Given the description of an element on the screen output the (x, y) to click on. 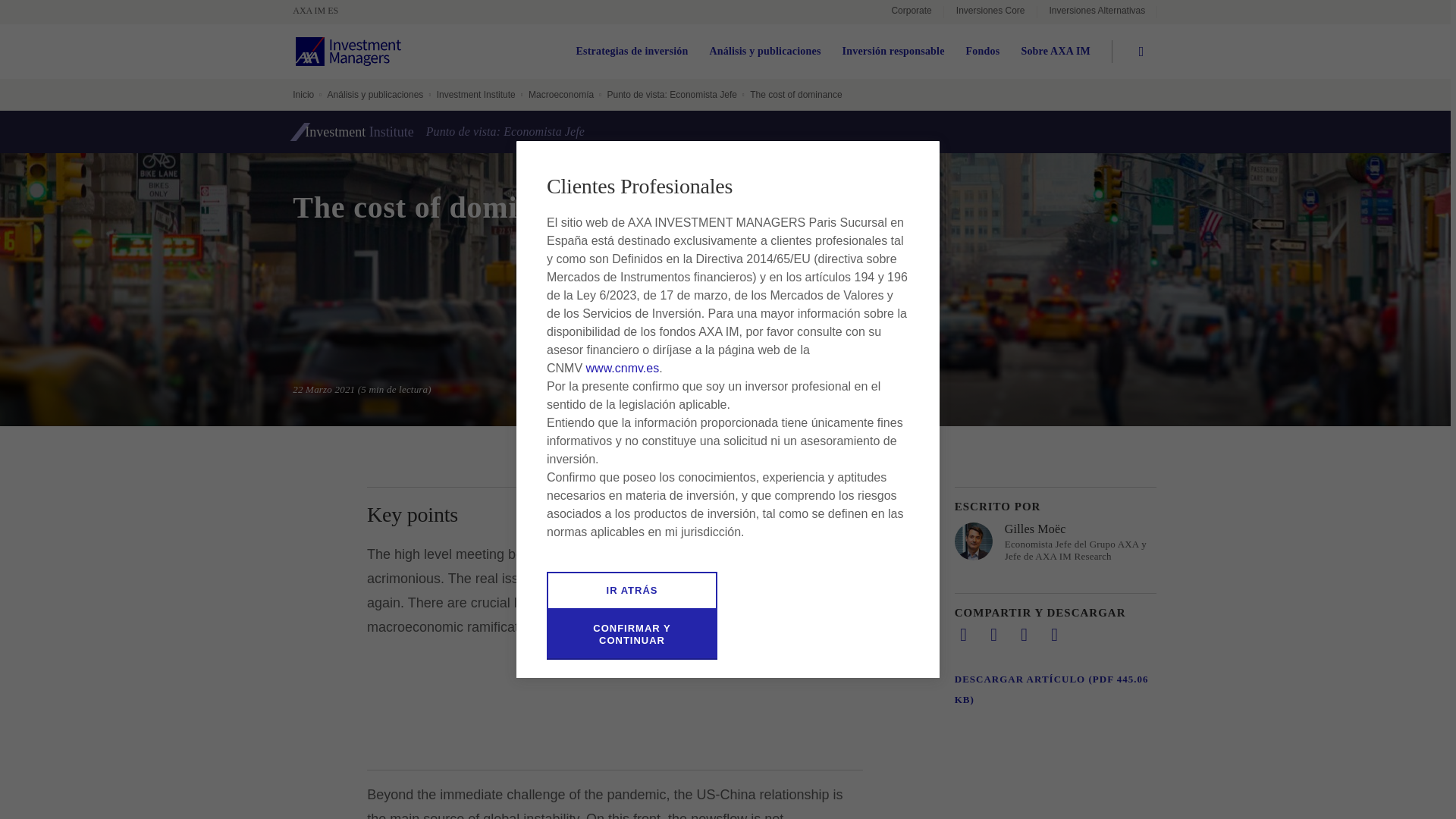
AXA IM ES (322, 10)
Corporate (911, 12)
View biography (1056, 541)
Home (348, 51)
CONFIRMAR Y CONTINUAR (632, 634)
Shared by mail (1023, 634)
Share on LinkedIn (963, 634)
Copy URL (1054, 634)
Inversiones Core (989, 12)
Inversiones Alternativas (1096, 12)
Home (322, 10)
Share on twitter (994, 634)
www.cnmv.es (622, 367)
